Given the description of an element on the screen output the (x, y) to click on. 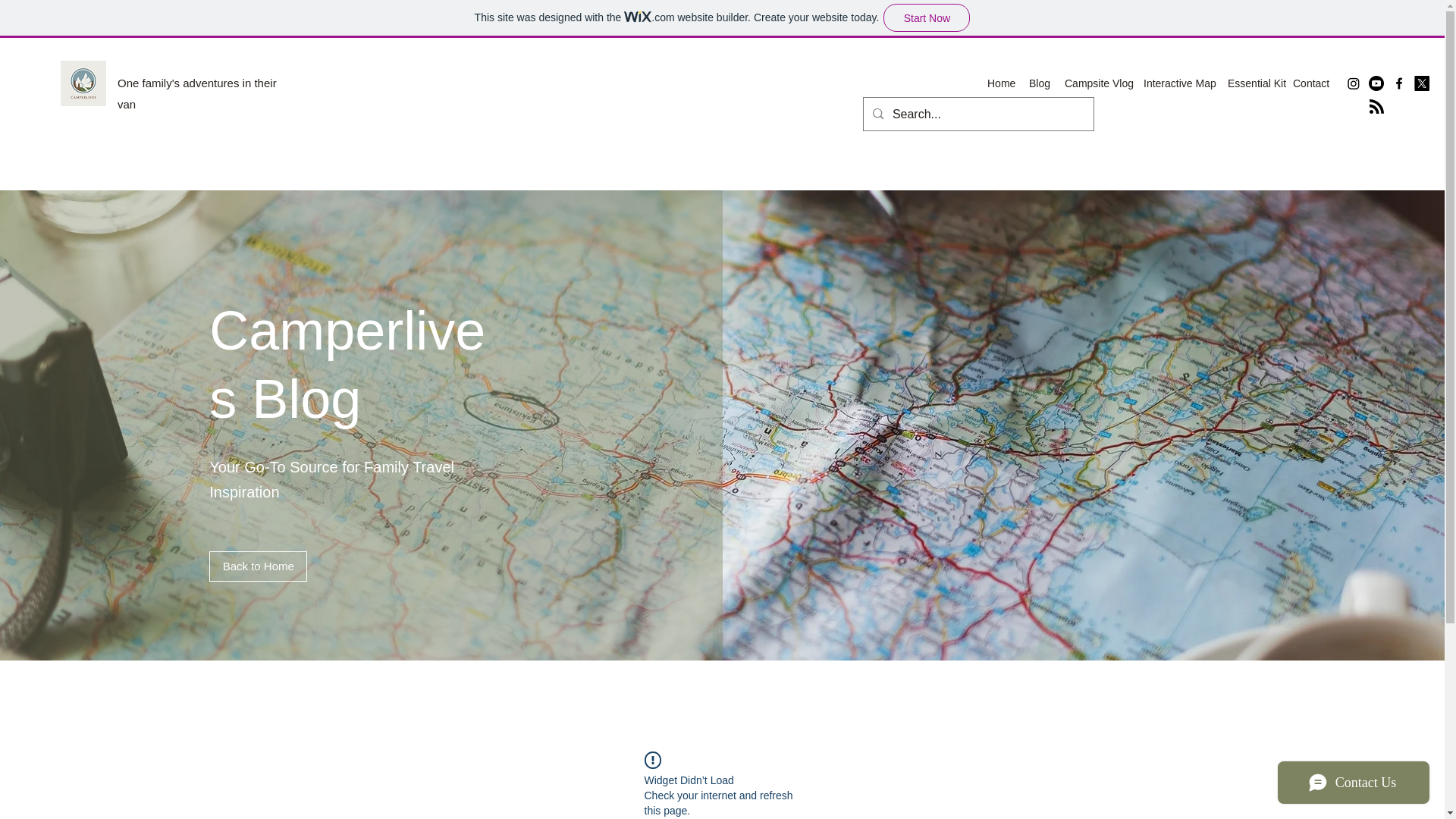
Back to Home (258, 566)
Blog (1039, 83)
! (653, 760)
Contact (1310, 83)
Campsite Vlog (1096, 83)
Interactive Map (1177, 83)
Essential Kit (1252, 83)
Home (1000, 83)
